Given the description of an element on the screen output the (x, y) to click on. 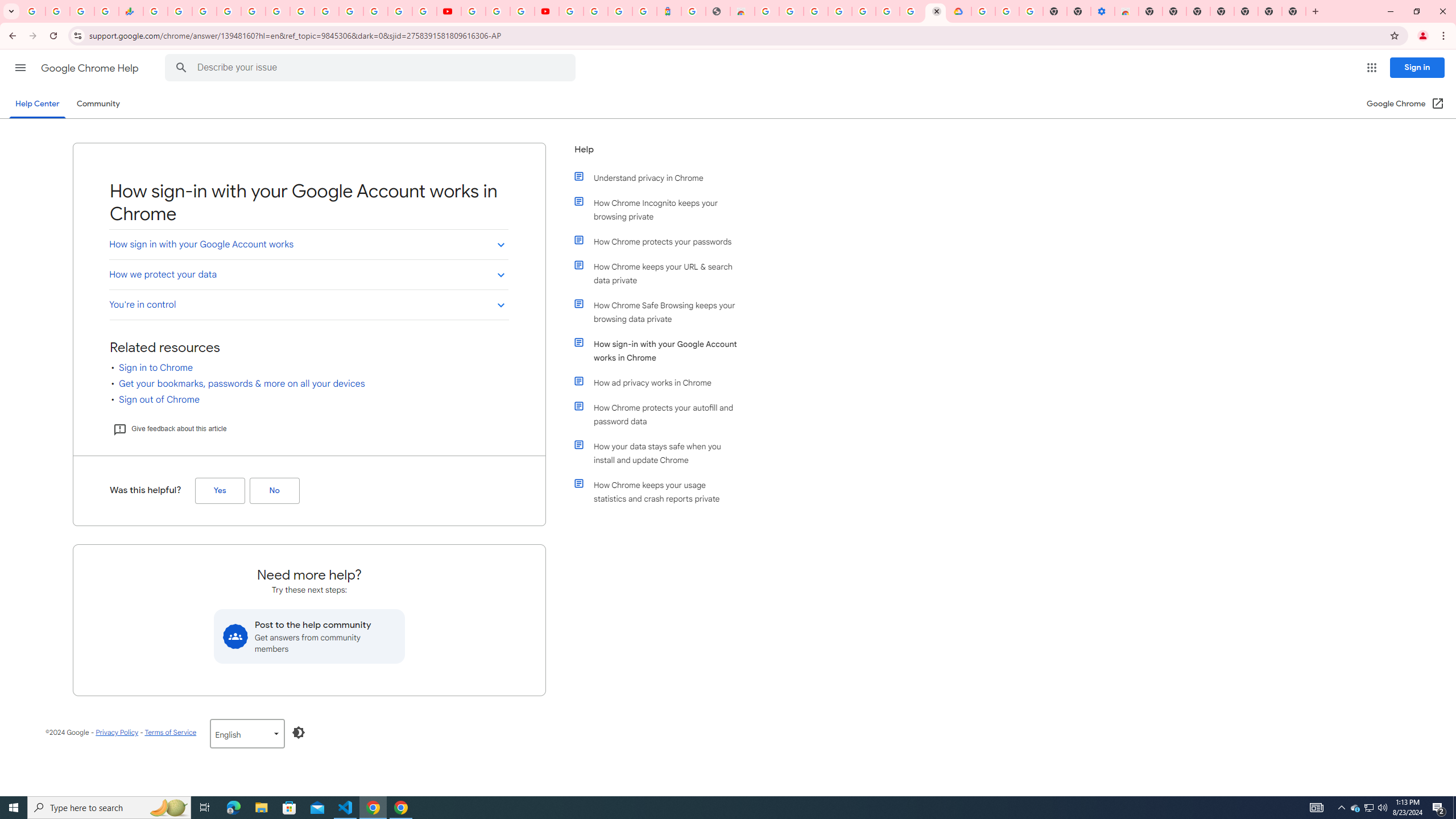
Help (656, 153)
Google Chrome (Open in a new window) (1404, 103)
Get your bookmarks, passwords & more on all your devices (242, 383)
Sign in - Google Accounts (570, 11)
Sign in - Google Accounts (839, 11)
Sign in to Chrome (156, 367)
Google Account Help (1007, 11)
YouTube (447, 11)
